Given the description of an element on the screen output the (x, y) to click on. 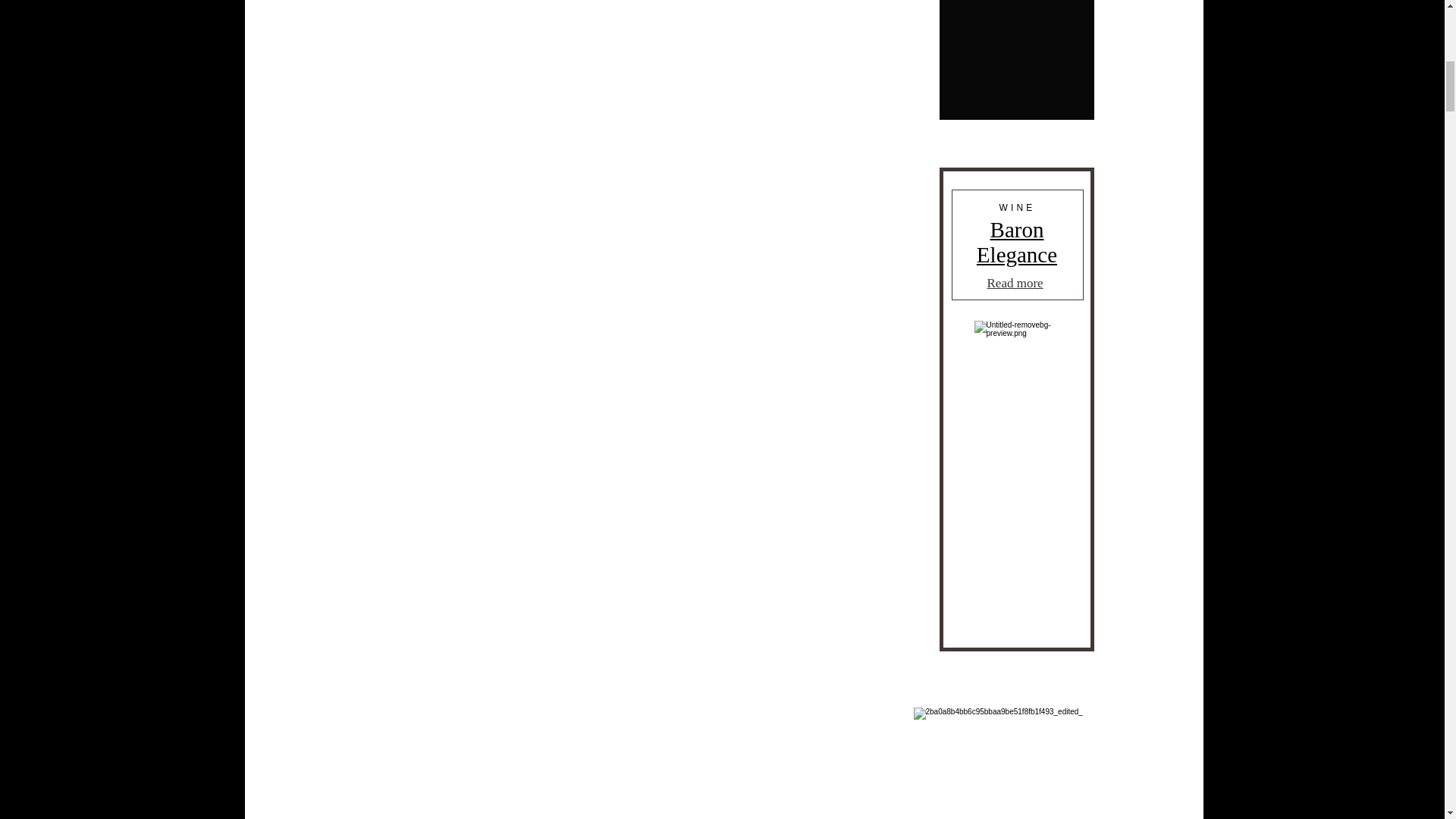
Read more (1016, 241)
